Given the description of an element on the screen output the (x, y) to click on. 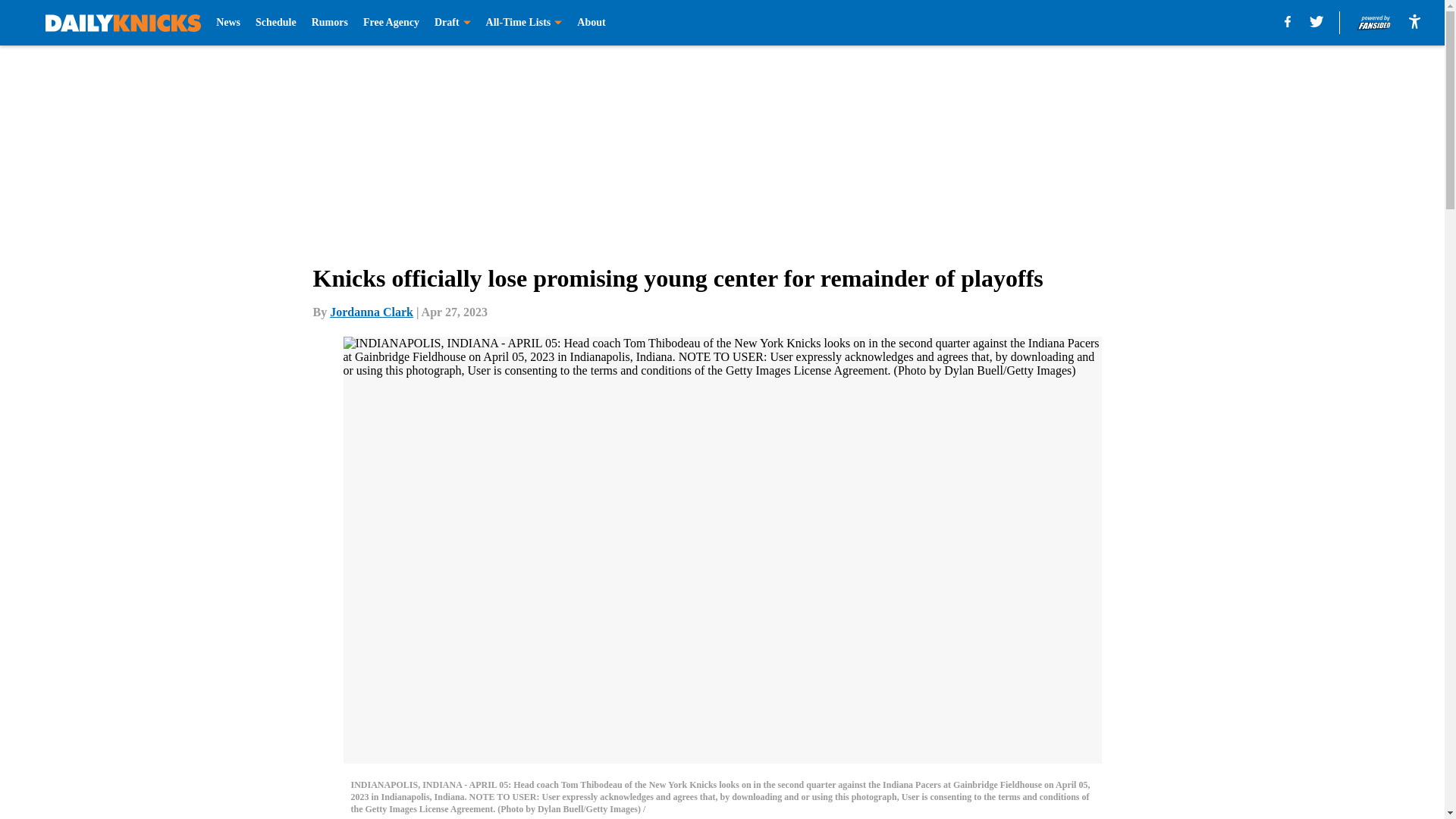
Free Agency (390, 22)
News (227, 22)
Schedule (276, 22)
Jordanna Clark (371, 311)
About (590, 22)
All-Time Lists (524, 22)
Rumors (329, 22)
Draft (451, 22)
